Given the description of an element on the screen output the (x, y) to click on. 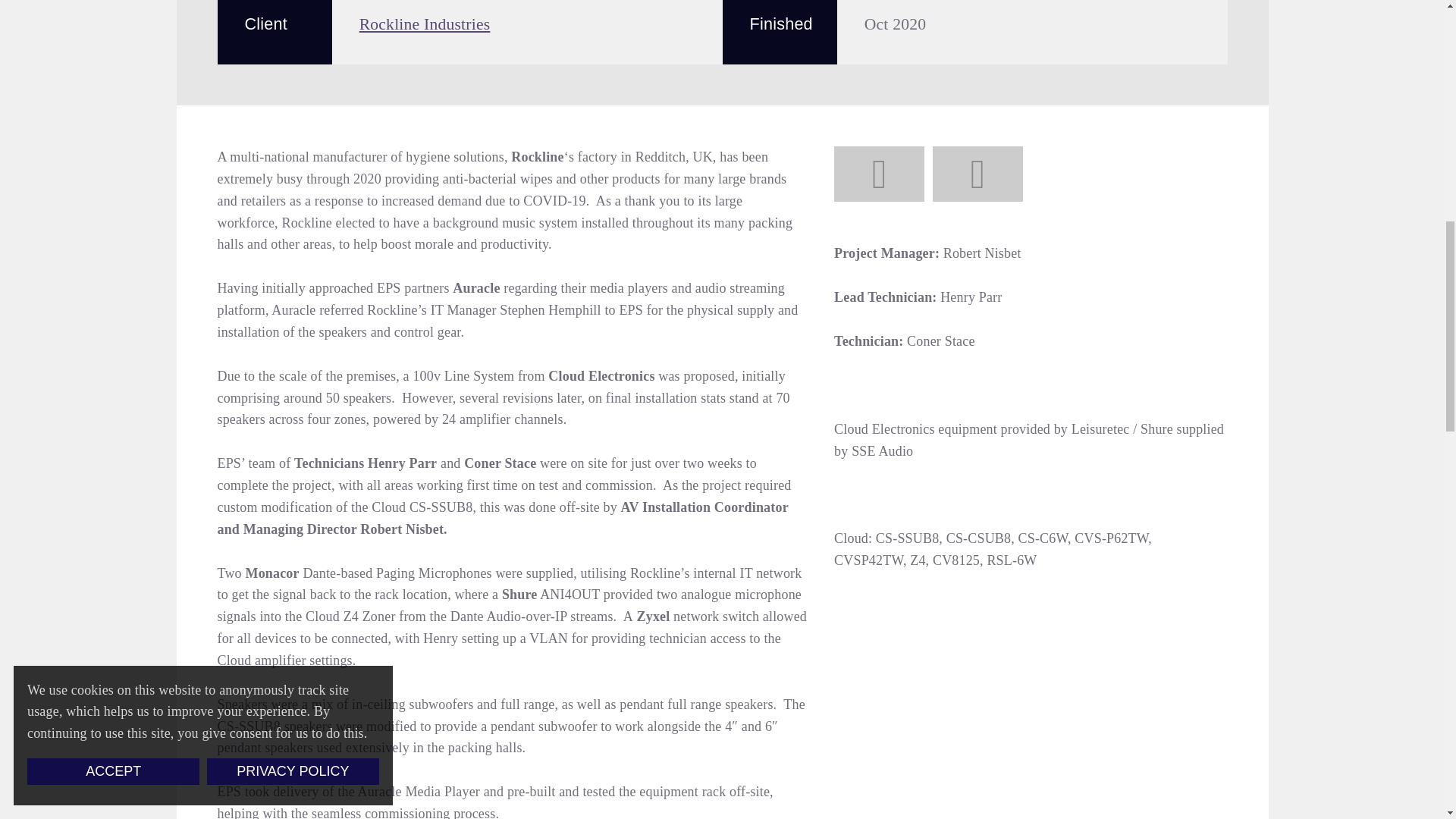
Rockline Industries (424, 24)
